Given the description of an element on the screen output the (x, y) to click on. 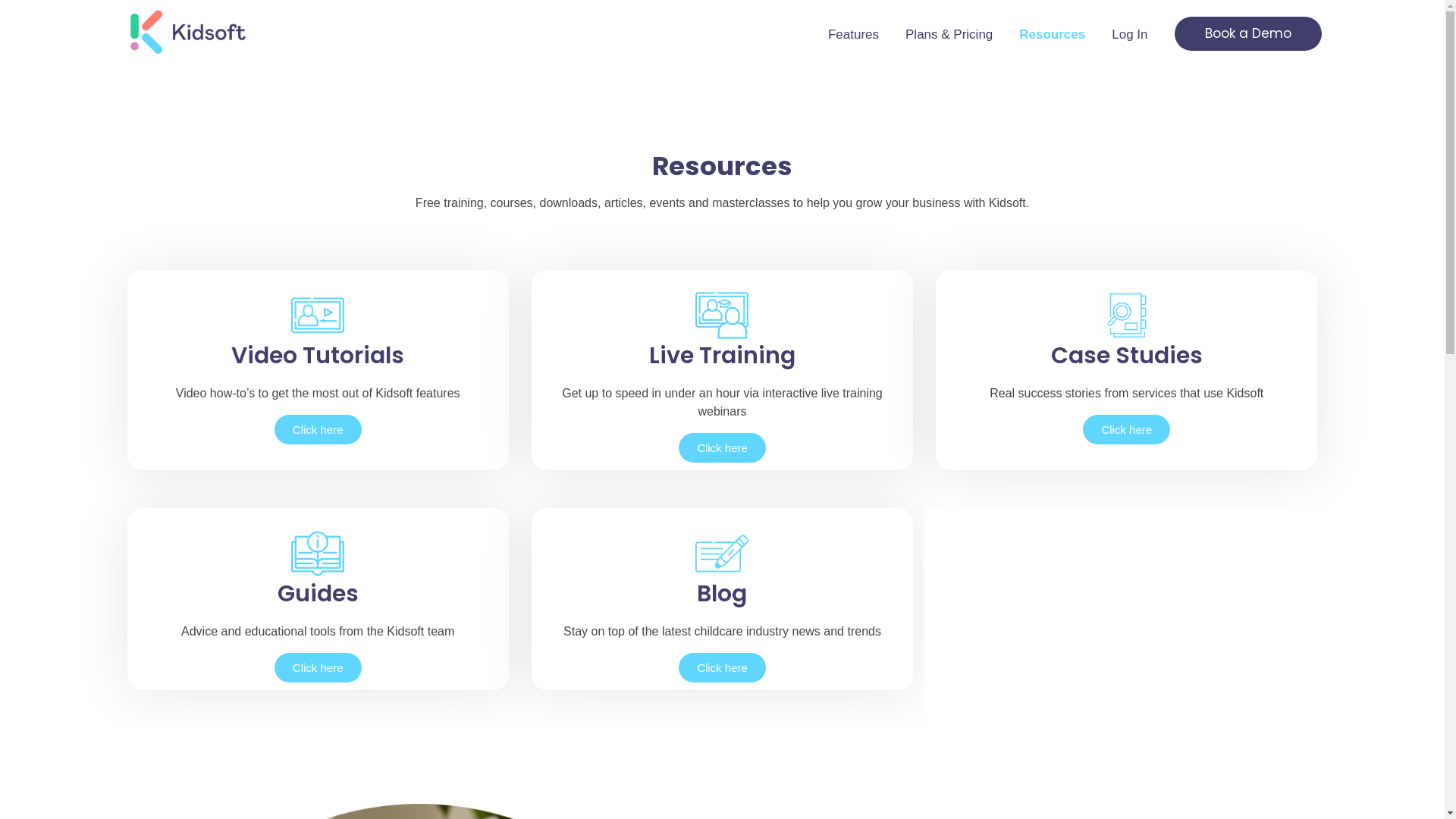
Plans & Pricing Element type: text (962, 34)
Click here Element type: text (317, 667)
kidsoft-resources-casestudies Element type: hover (1126, 315)
Kidsoft - Cloud-based CCS Element type: text (238, 65)
Click here Element type: text (721, 667)
kidsoft-resources-livetraining Element type: hover (721, 315)
Resources Element type: text (1065, 34)
kidsoft-resources-videotutorials Element type: hover (317, 315)
Click here Element type: text (721, 447)
kidsoft-resources-guides Element type: hover (317, 553)
Log In Element type: text (1142, 34)
Click here Element type: text (317, 429)
Click here Element type: text (1126, 429)
Features Element type: text (866, 34)
kidsoft-resources-blog Element type: hover (721, 553)
Book a Demo Element type: text (1247, 33)
